Given the description of an element on the screen output the (x, y) to click on. 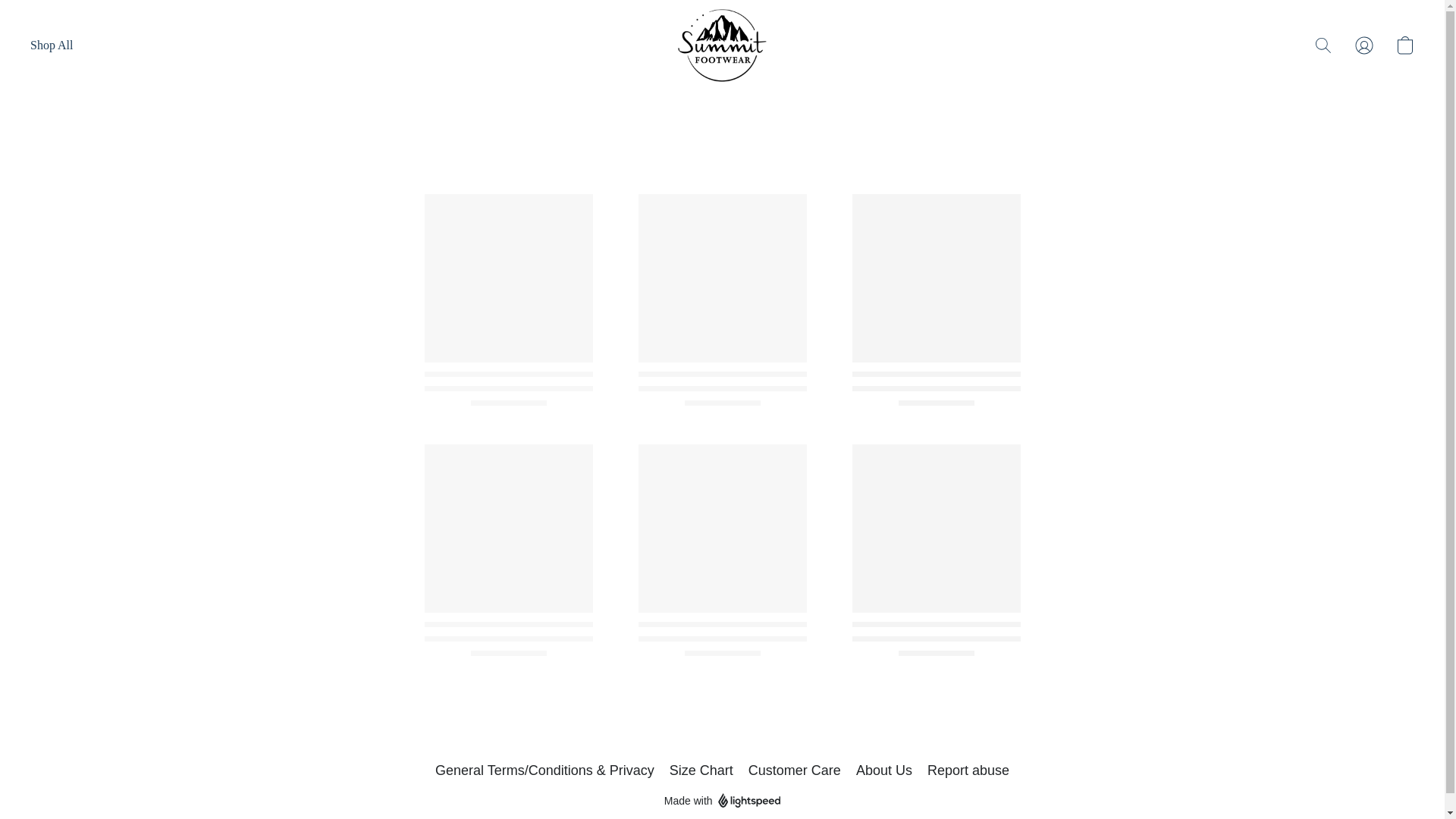
Made with (721, 800)
Search the website (1323, 45)
Shop All (51, 45)
About Us (884, 770)
Customer Care (794, 770)
Size Chart (701, 770)
Report abuse (968, 770)
Go to your shopping cart (1404, 45)
